Given the description of an element on the screen output the (x, y) to click on. 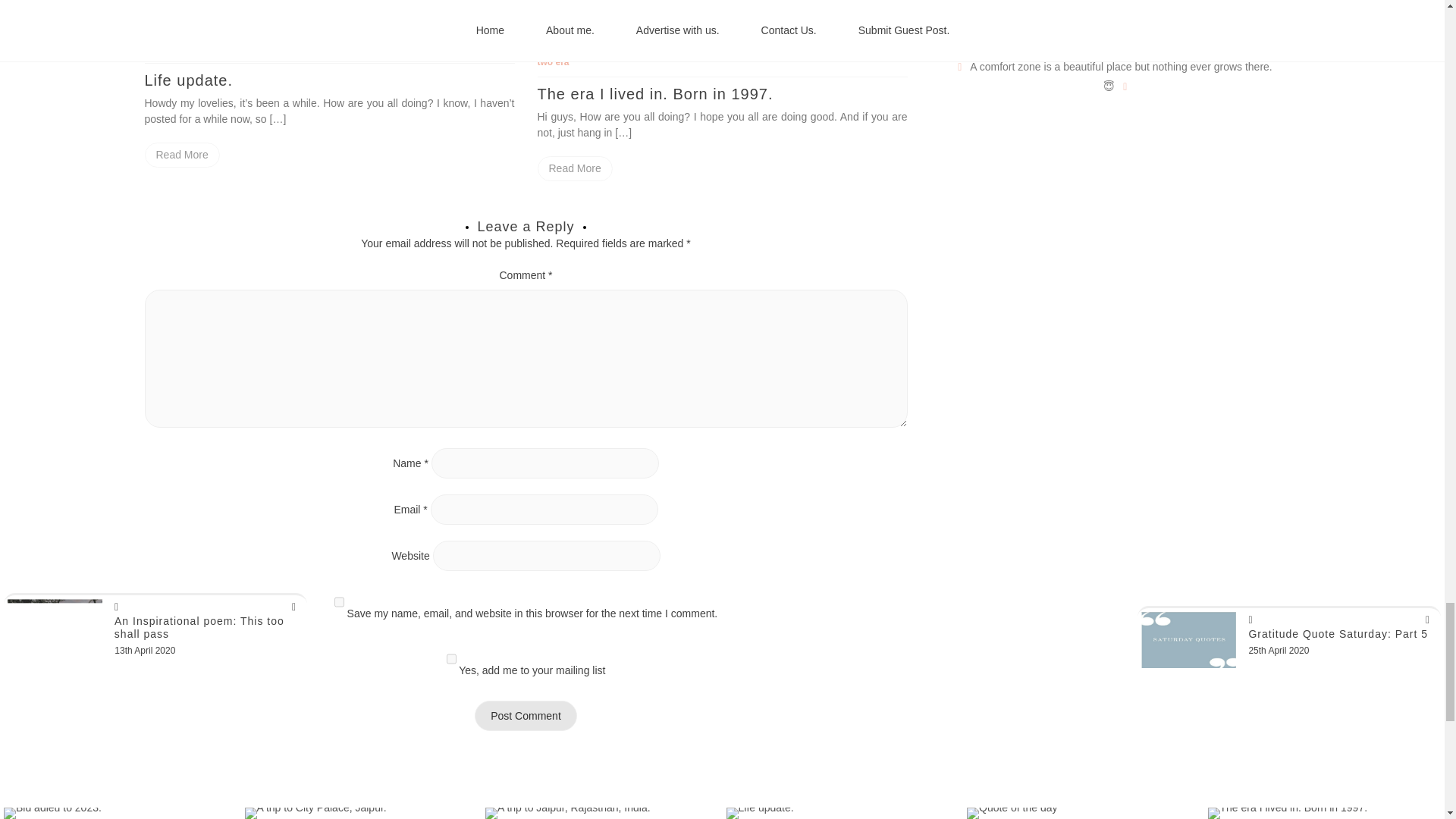
Post Comment (525, 716)
